Given the description of an element on the screen output the (x, y) to click on. 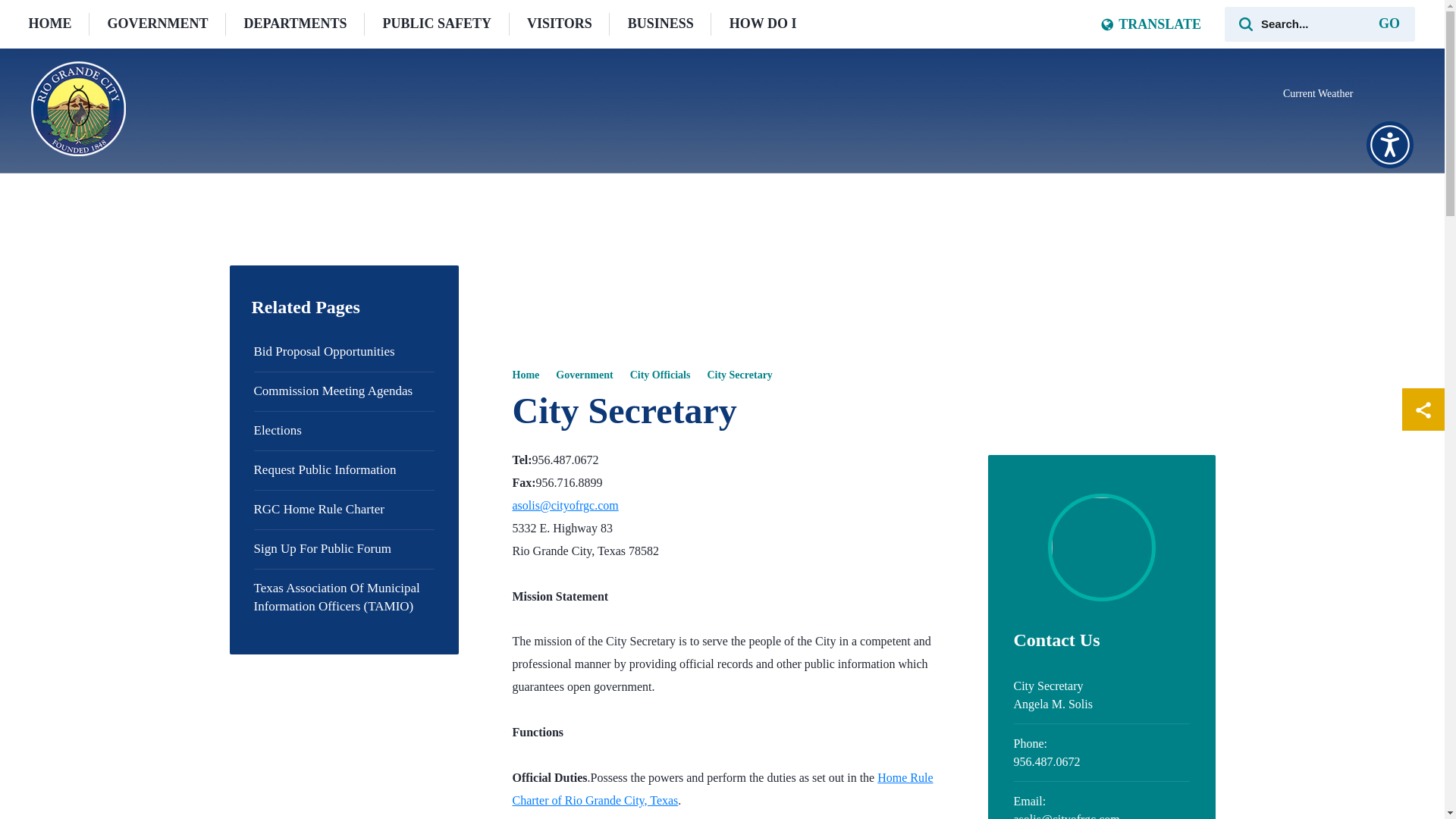
GOVERNMENT (156, 24)
HOME (49, 24)
DEPARTMENTS (295, 24)
PUBLIC SAFETY (437, 24)
